Given the description of an element on the screen output the (x, y) to click on. 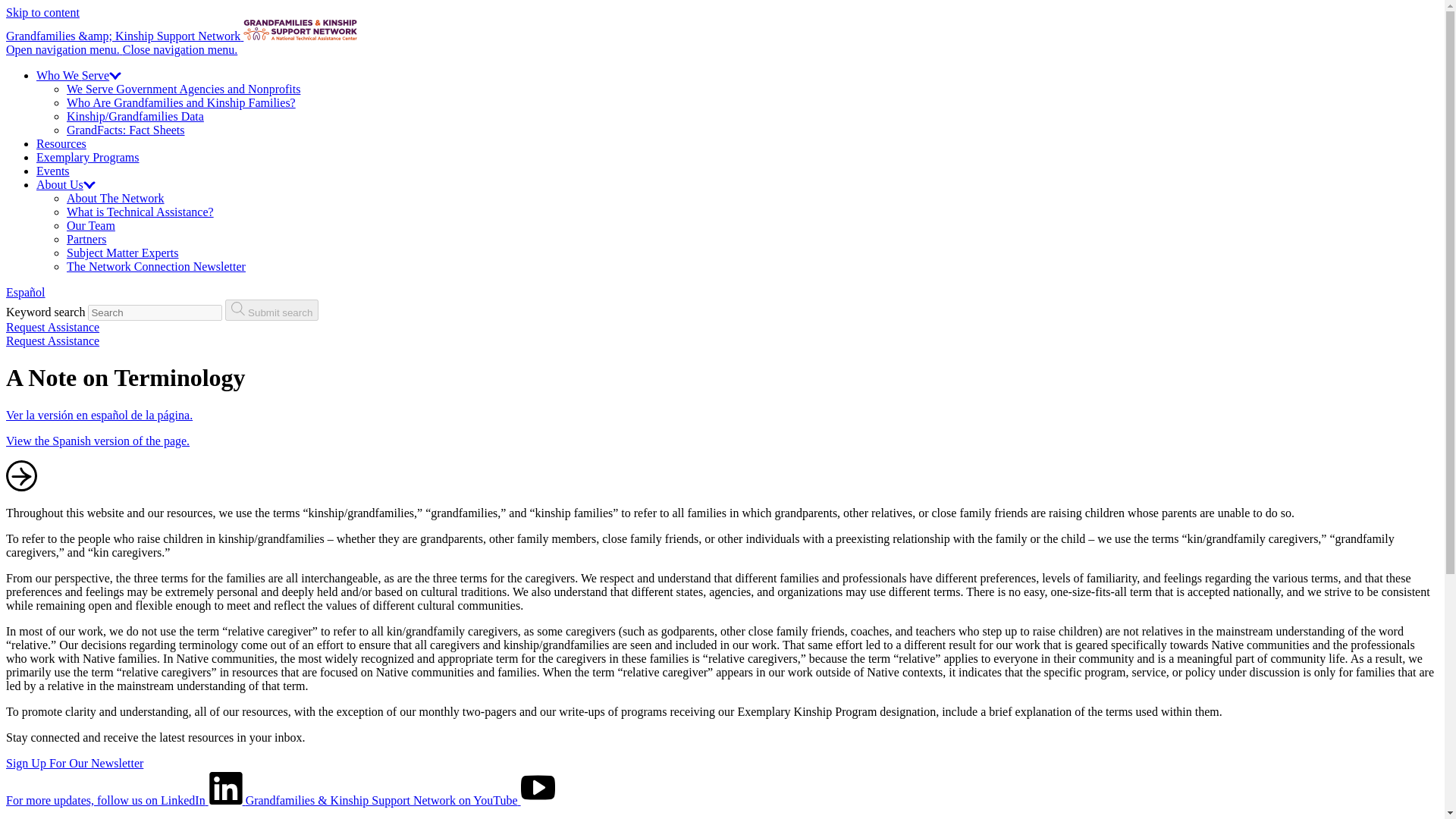
The Network Connection Newsletter (156, 266)
Who We Serve (78, 74)
About The Network (115, 197)
Resources (60, 143)
Exemplary Programs (87, 156)
Request Assistance (52, 340)
Sign Up For Our Newsletter (73, 762)
Submit search (271, 310)
Who Are Grandfamilies and Kinship Families? (180, 102)
We Serve Government Agencies and Nonprofits (182, 88)
